Given the description of an element on the screen output the (x, y) to click on. 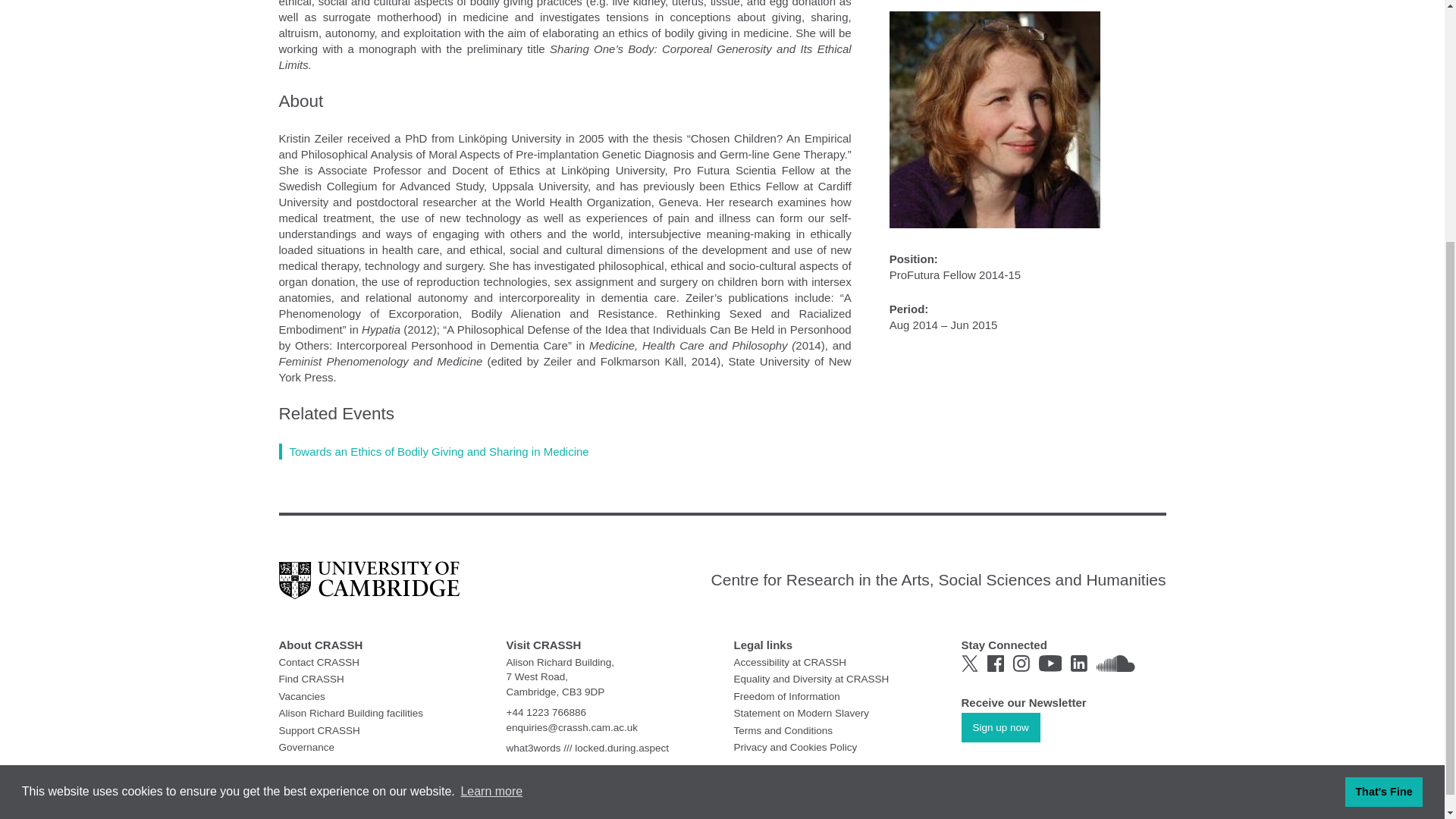
Equality and Diversity at CRASSH (811, 678)
Find CRASSH (311, 678)
Statement on Modern Slavery (801, 713)
Privacy and Cookies Policy (795, 747)
Contact CRASSH (319, 662)
Learn more (491, 449)
Governance (306, 747)
Towards an Ethics of Bodily Giving and Sharing in Medicine (434, 450)
Alison Richard Building facilities (351, 713)
Terms and Conditions (782, 730)
Vacancies (301, 695)
Accessibility at CRASSH (790, 662)
Freedom of Information (786, 695)
That's Fine (1383, 450)
Support CRASSH (319, 730)
